Given the description of an element on the screen output the (x, y) to click on. 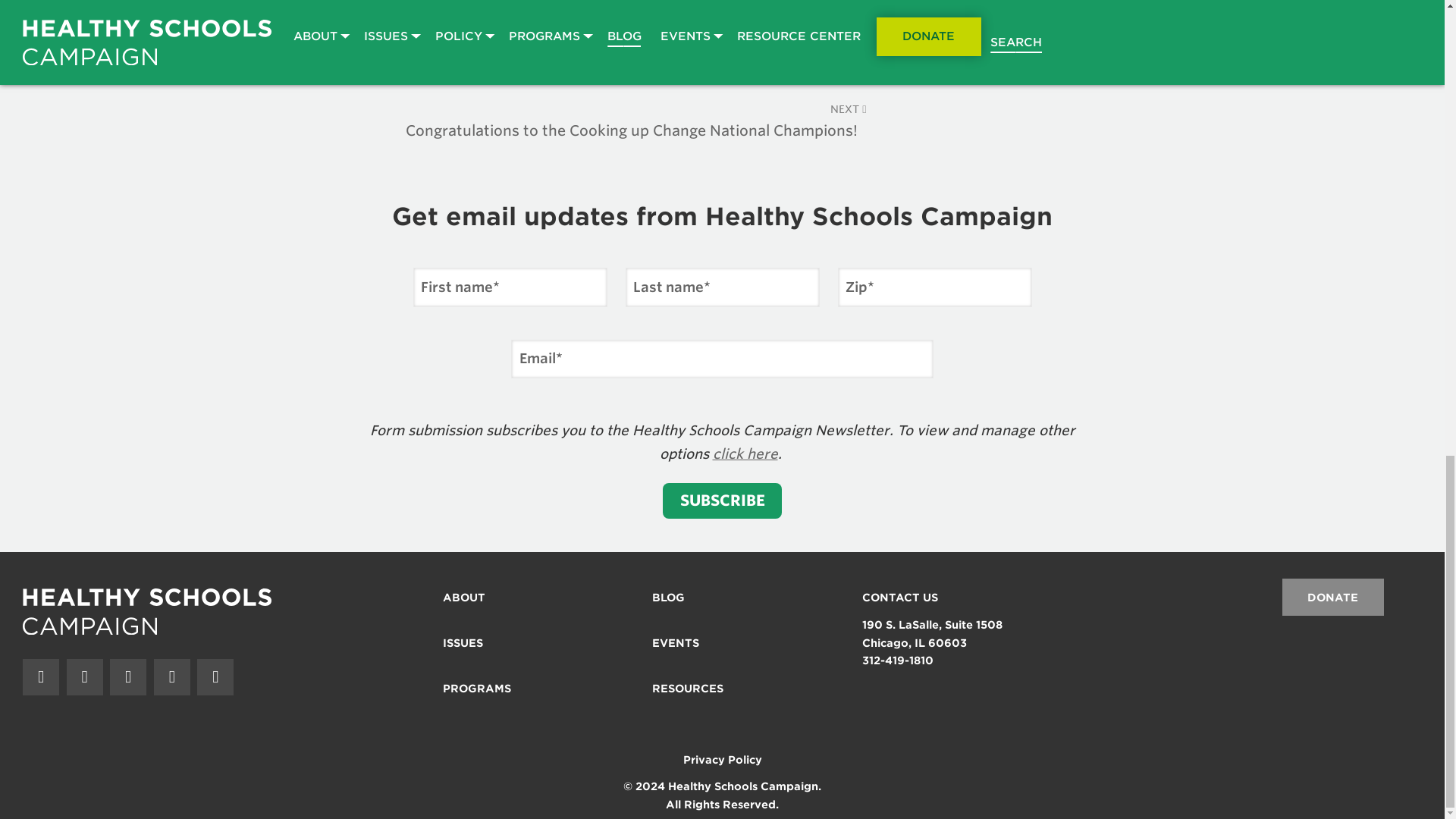
Last name  (721, 287)
Healthy Schools Campaign (146, 611)
Zip  (933, 287)
First name  (509, 287)
Email  (722, 359)
Subscribe (721, 501)
